Given the description of an element on the screen output the (x, y) to click on. 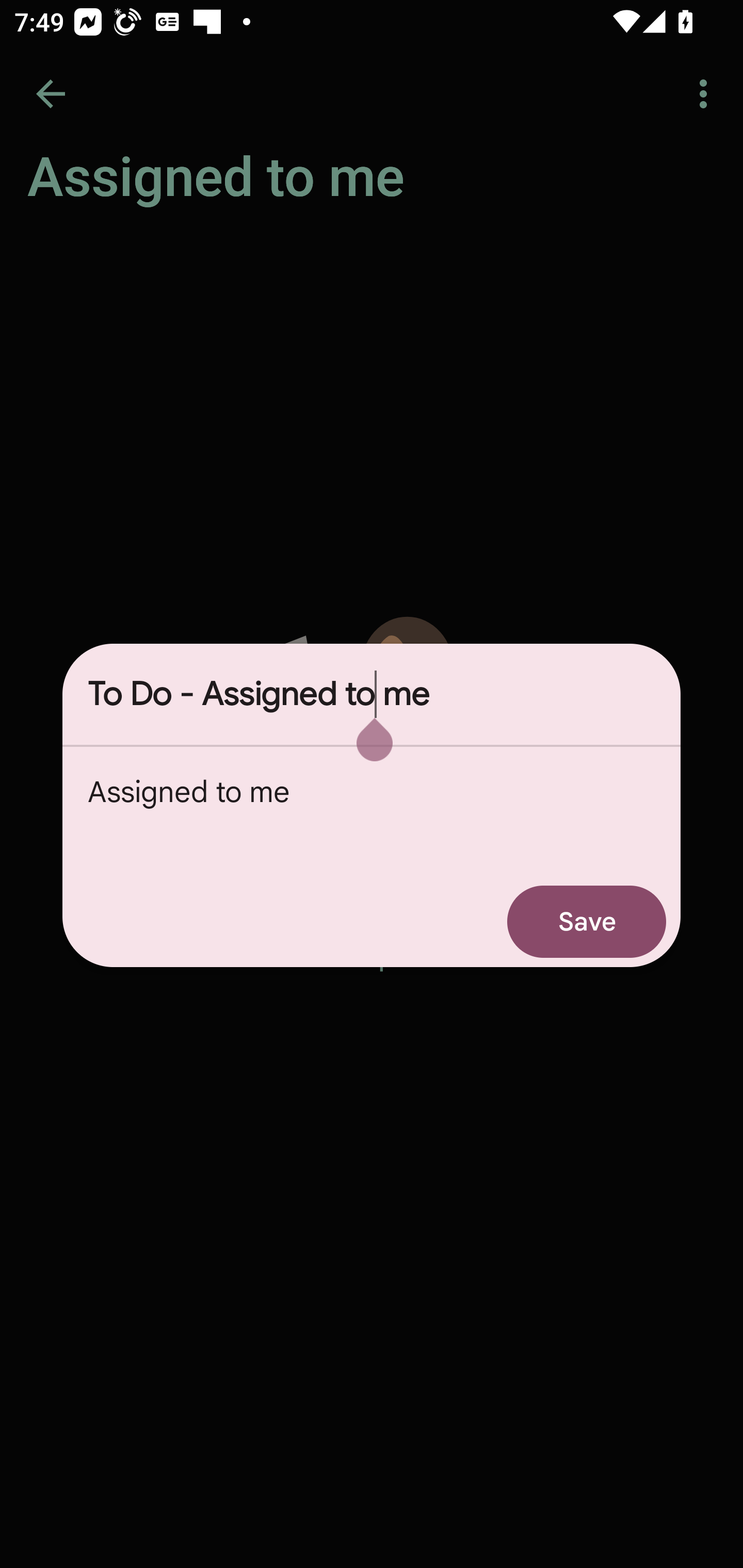
To Do - Assigned to me (371, 694)
Assigned to me
 (371, 811)
Save (586, 921)
